Given the description of an element on the screen output the (x, y) to click on. 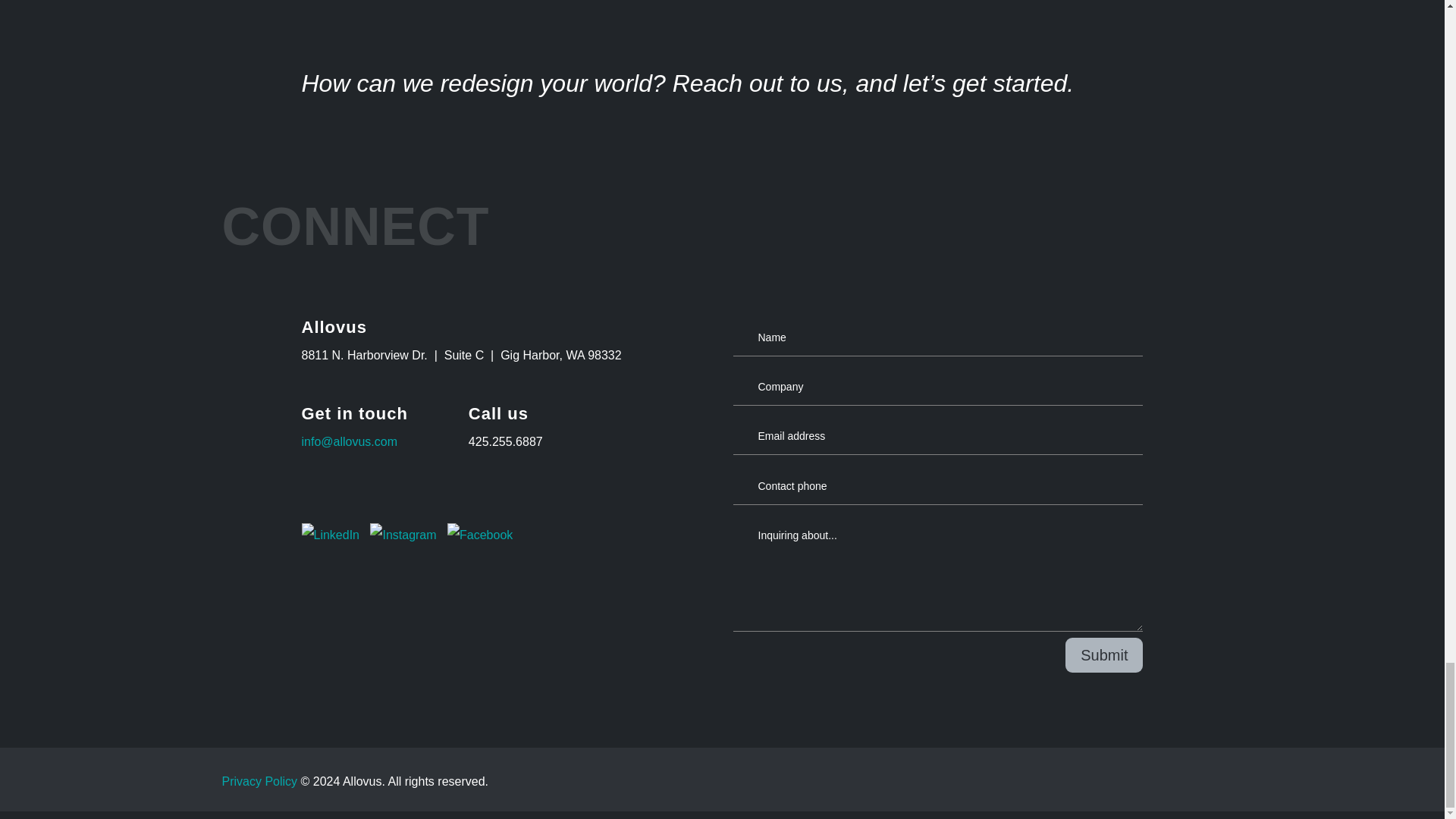
Privacy Policy (259, 780)
Submit (1103, 655)
